Given the description of an element on the screen output the (x, y) to click on. 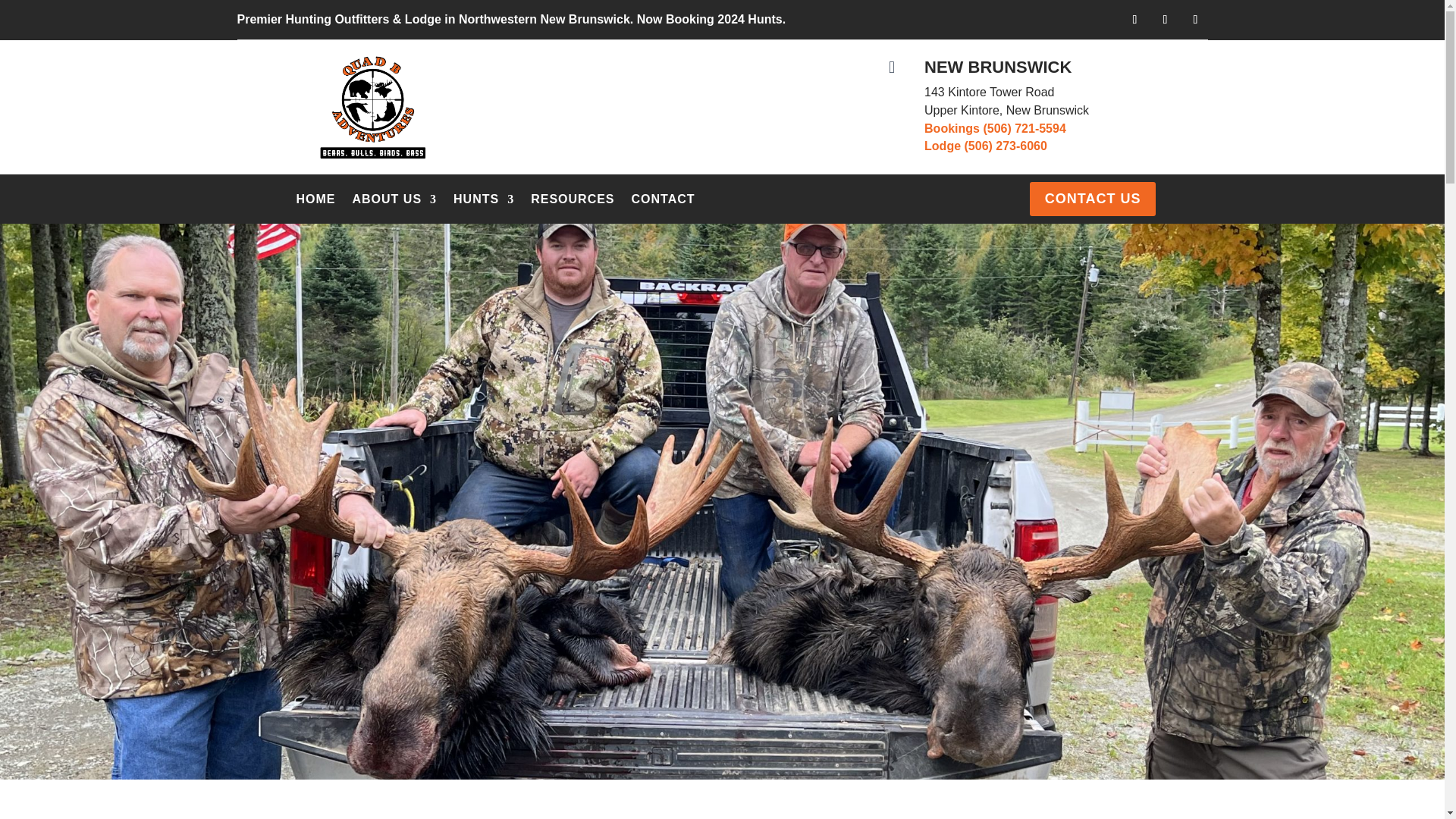
Follow on Facebook (1134, 19)
Follow on Instagram (1194, 19)
ABOUT US (394, 202)
CONTACT (663, 202)
QuadB-WEB-1 (371, 107)
RESOURCES (572, 202)
Follow on Youtube (1164, 19)
CONTACT US (1092, 198)
HOME (314, 202)
HUNTS (482, 202)
